Given the description of an element on the screen output the (x, y) to click on. 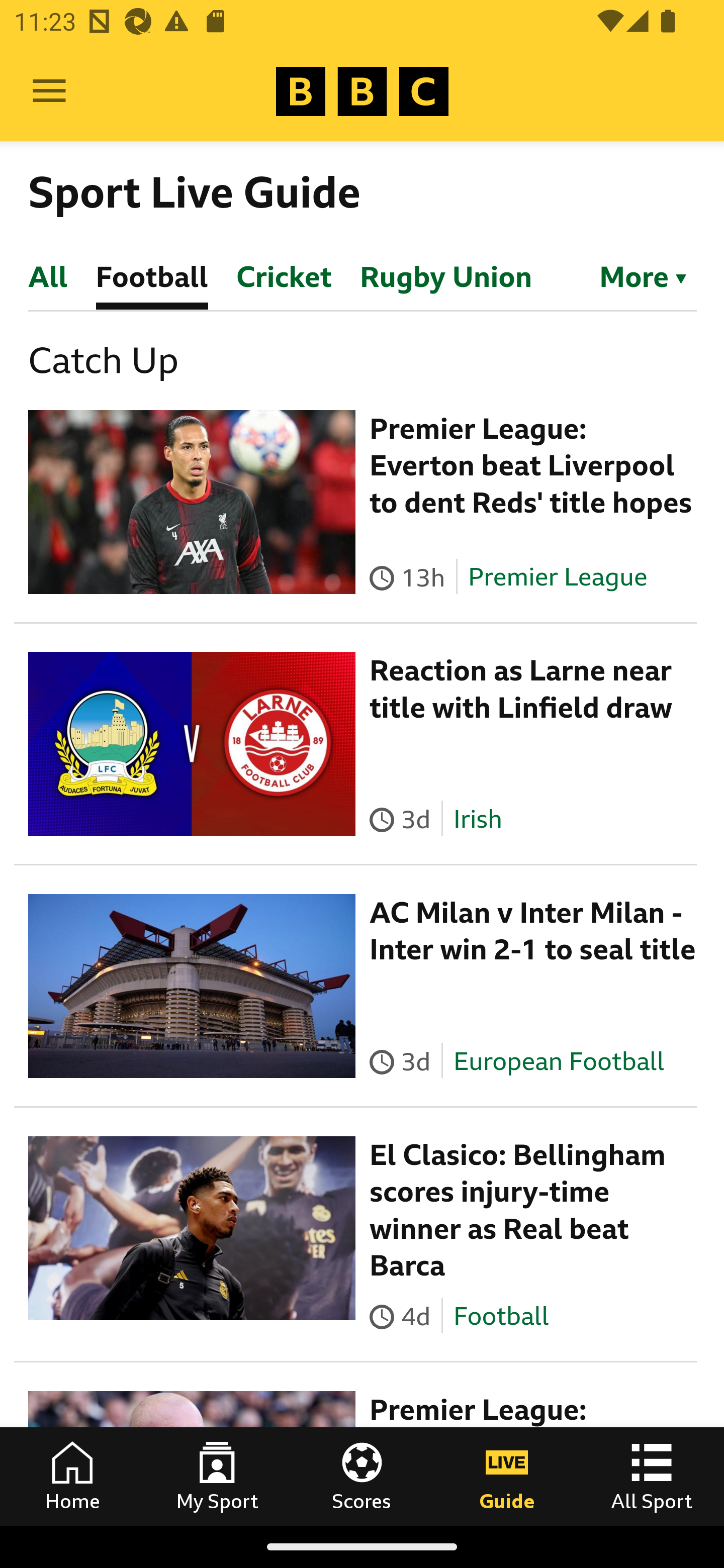
Open Menu (49, 91)
Filter by section. Currently selected: Football (634, 275)
Premier League (557, 576)
Reaction as Larne near title with Linfield draw (521, 688)
Irish (477, 818)
European Football (558, 1060)
Football (500, 1315)
Home (72, 1475)
My Sport (216, 1475)
Scores (361, 1475)
All Sport (651, 1475)
